Given the description of an element on the screen output the (x, y) to click on. 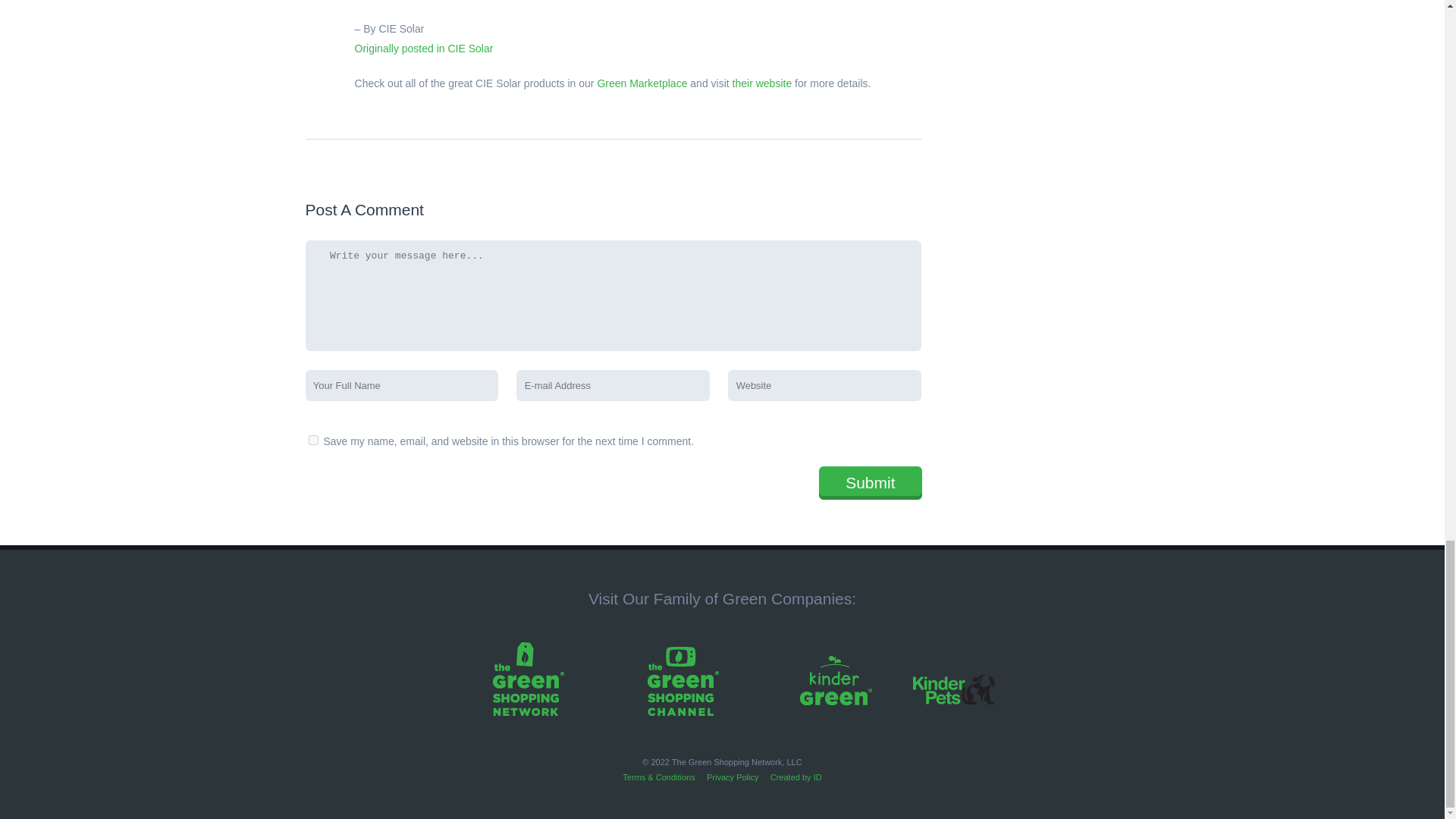
Submit (869, 482)
yes (312, 439)
their website (762, 82)
Green Marketplace (641, 82)
Submit (869, 482)
Originally posted in CIE Solar (424, 48)
